Given the description of an element on the screen output the (x, y) to click on. 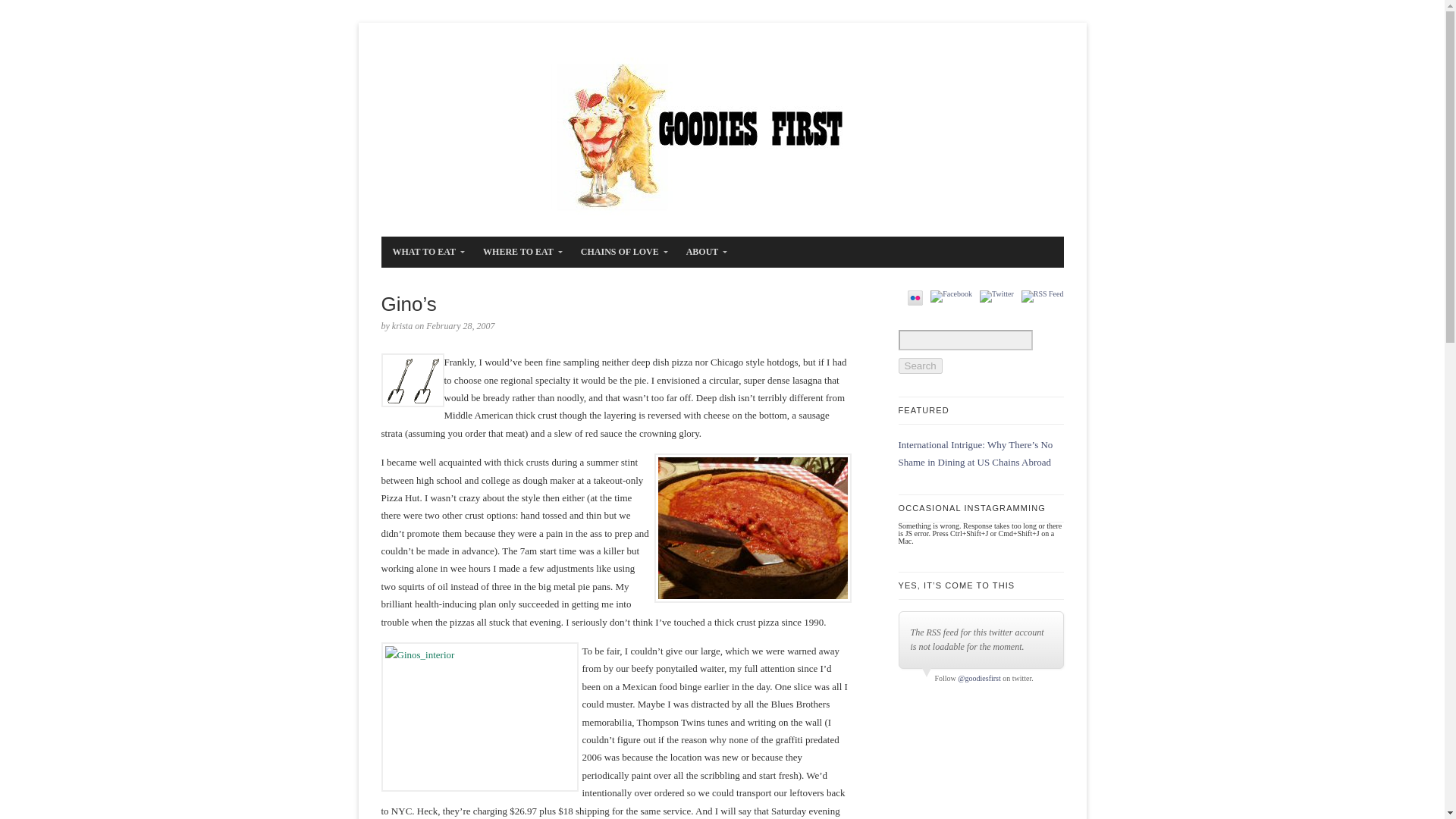
Facebook (951, 296)
WHERE TO EAT (519, 251)
Twitter (996, 296)
Flickr (915, 297)
WHAT TO EAT (425, 251)
RSS (1043, 296)
Search (920, 365)
